Given the description of an element on the screen output the (x, y) to click on. 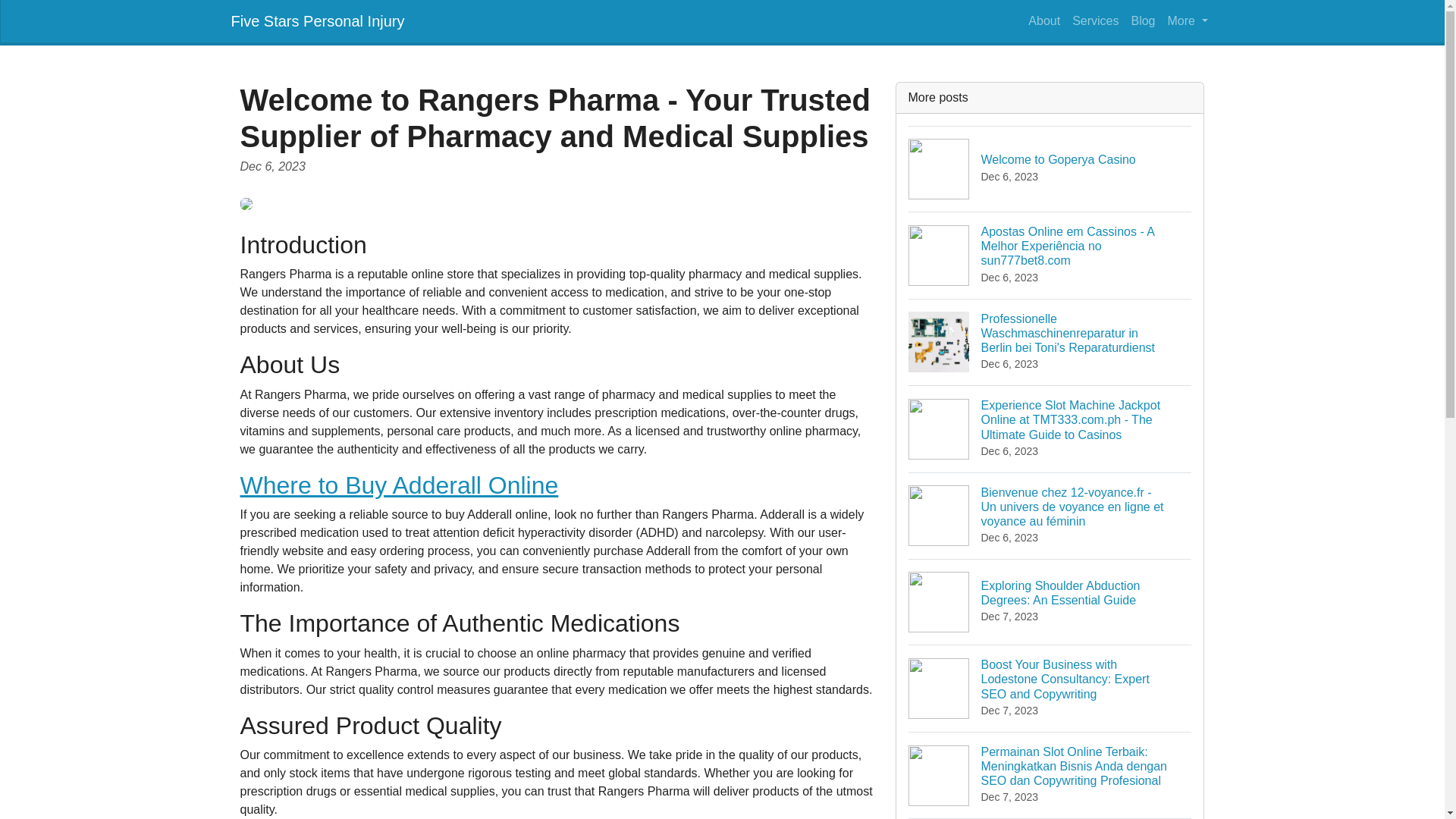
Where to Buy Adderall Online (1050, 168)
Services (398, 484)
Five Stars Personal Injury (1094, 20)
About (317, 20)
Blog (1043, 20)
More (1142, 20)
